Given the description of an element on the screen output the (x, y) to click on. 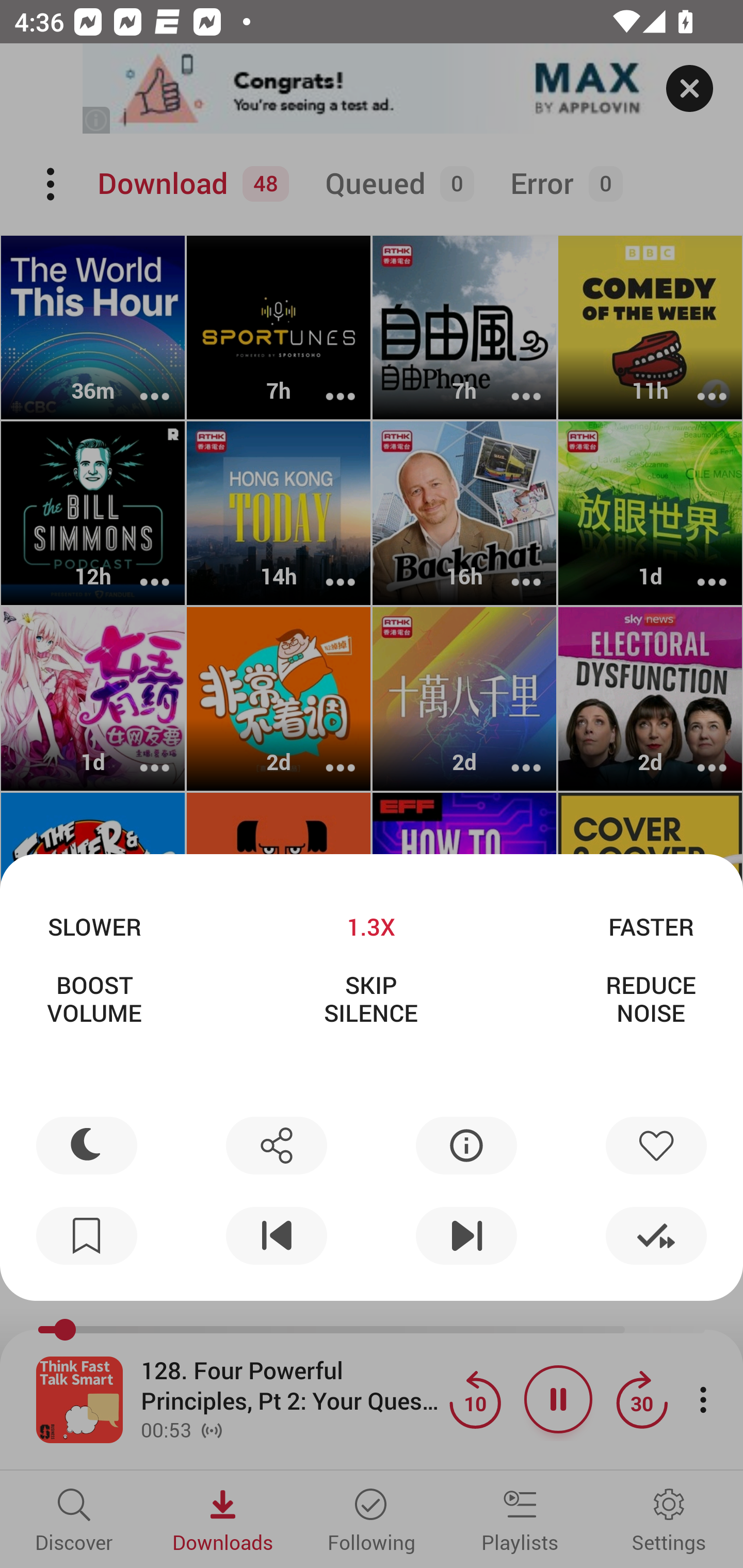
SLOWER (94, 926)
1.3X (370, 926)
FASTER (650, 926)
BOOST
VOLUME (94, 998)
SKIP
SILENCE (370, 998)
REDUCE
NOISE (650, 998)
Sleep timer (86, 1145)
Share (275, 1145)
Info (466, 1145)
Like (655, 1145)
New bookmark … (86, 1236)
Previous (275, 1236)
Next (466, 1236)
Mark played and next (655, 1236)
